Given the description of an element on the screen output the (x, y) to click on. 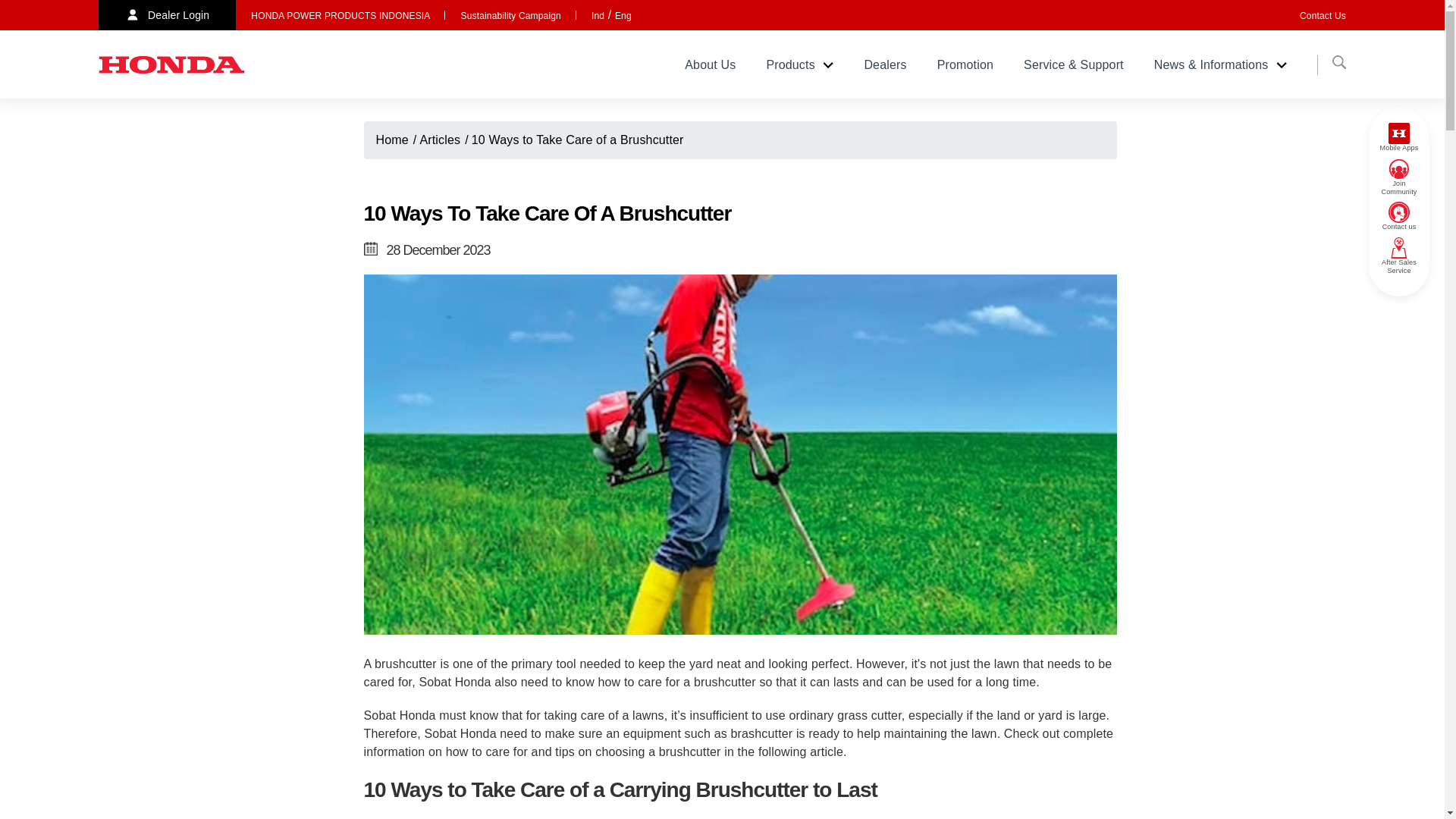
Ind (597, 15)
Contact Us (1322, 15)
About Us (709, 64)
HONDA POWER PRODUCTS INDONESIA (339, 15)
Dealer Login (167, 14)
Products (798, 64)
Eng (622, 15)
Sustainability Campaign (510, 15)
